Given the description of an element on the screen output the (x, y) to click on. 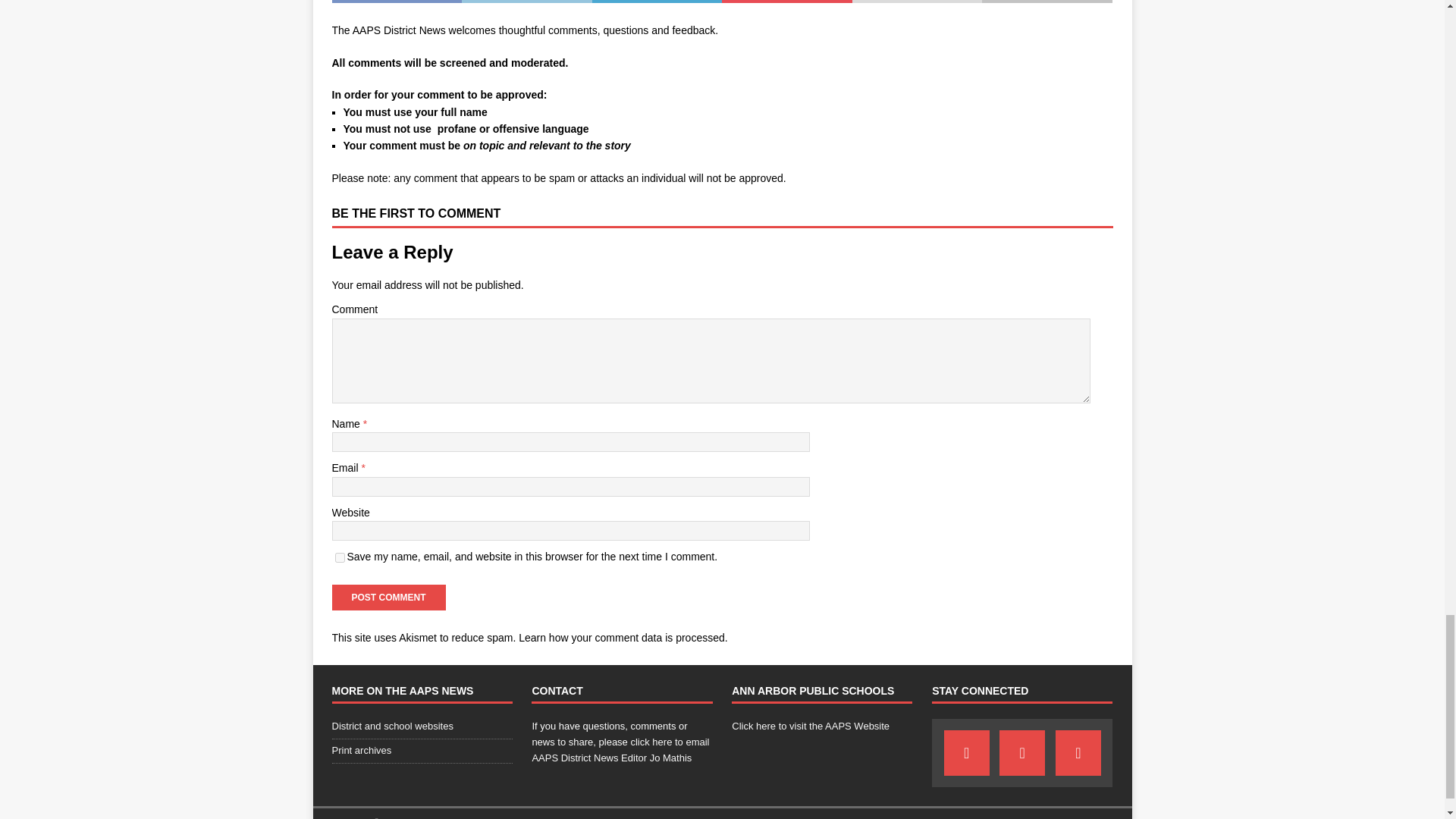
yes (339, 557)
Learn how your comment data is processed (621, 637)
click here to email AAPS District News Editor Jo Mathis (620, 749)
District and school websites (421, 728)
Post Comment (388, 597)
Click here to visit the AAPS Website (810, 726)
Print archives (421, 750)
Post Comment (388, 597)
